Given the description of an element on the screen output the (x, y) to click on. 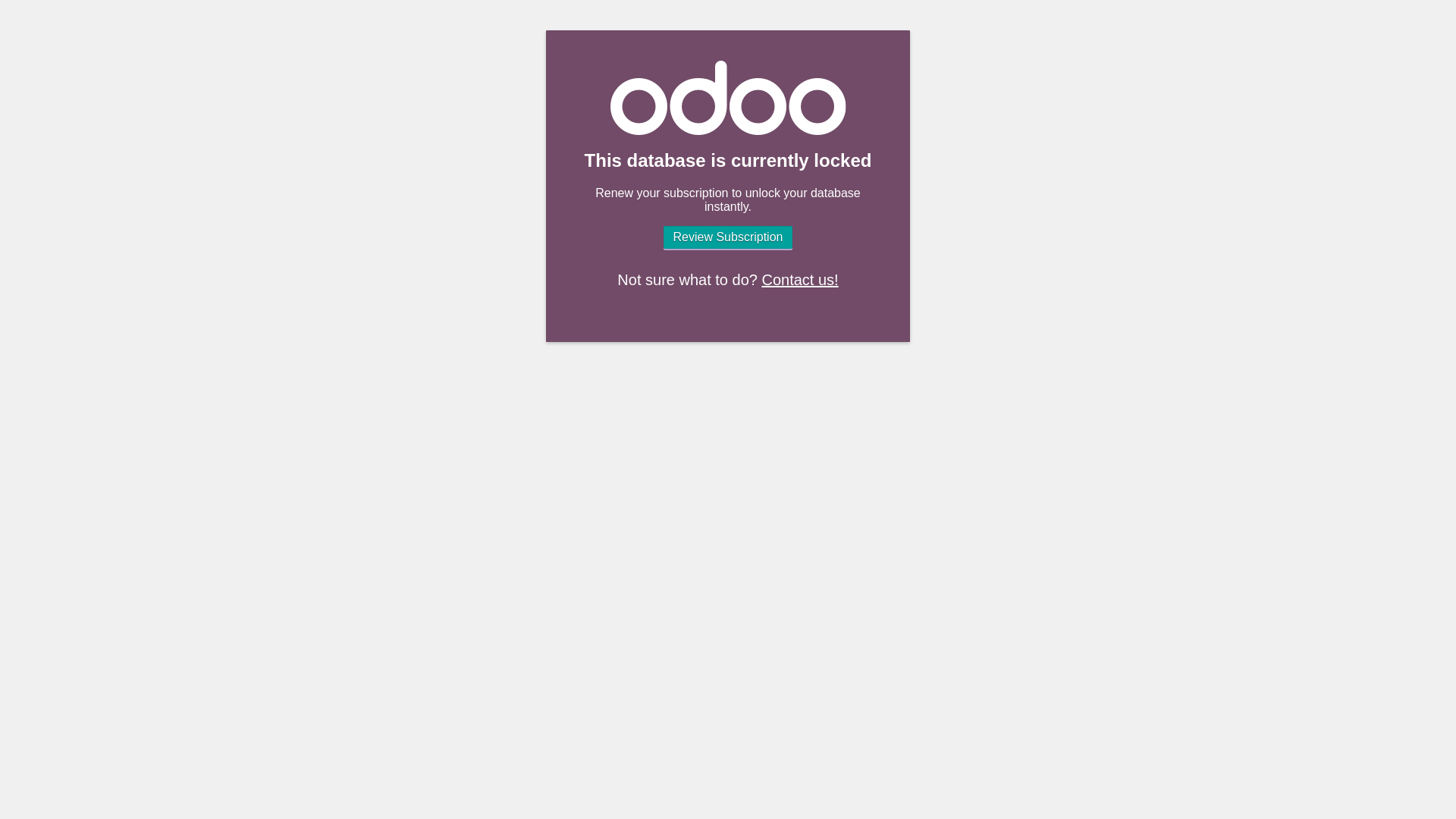
Review Subscription (728, 237)
Contact us! (799, 279)
